Given the description of an element on the screen output the (x, y) to click on. 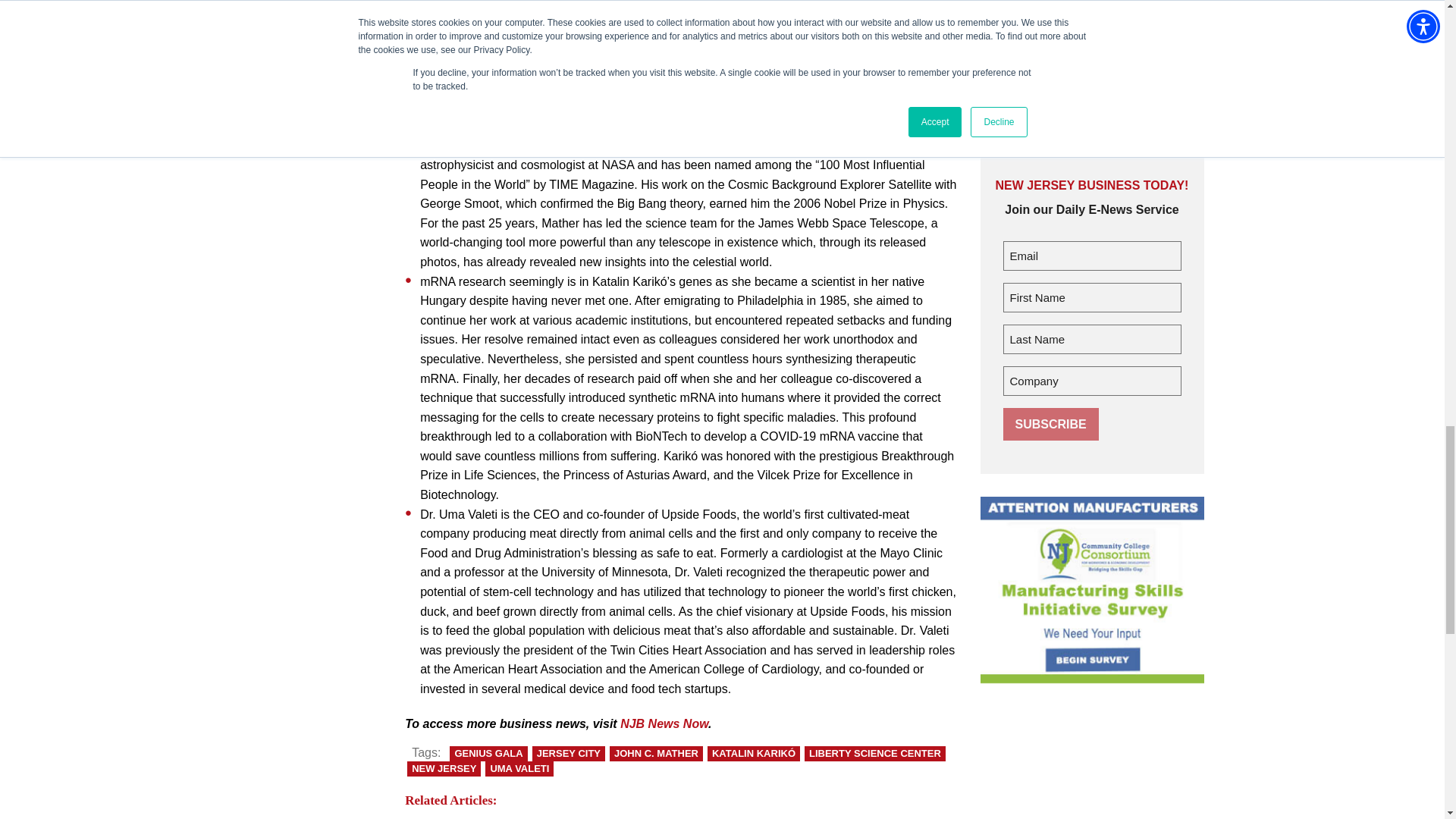
Subscribe (1050, 423)
